Given the description of an element on the screen output the (x, y) to click on. 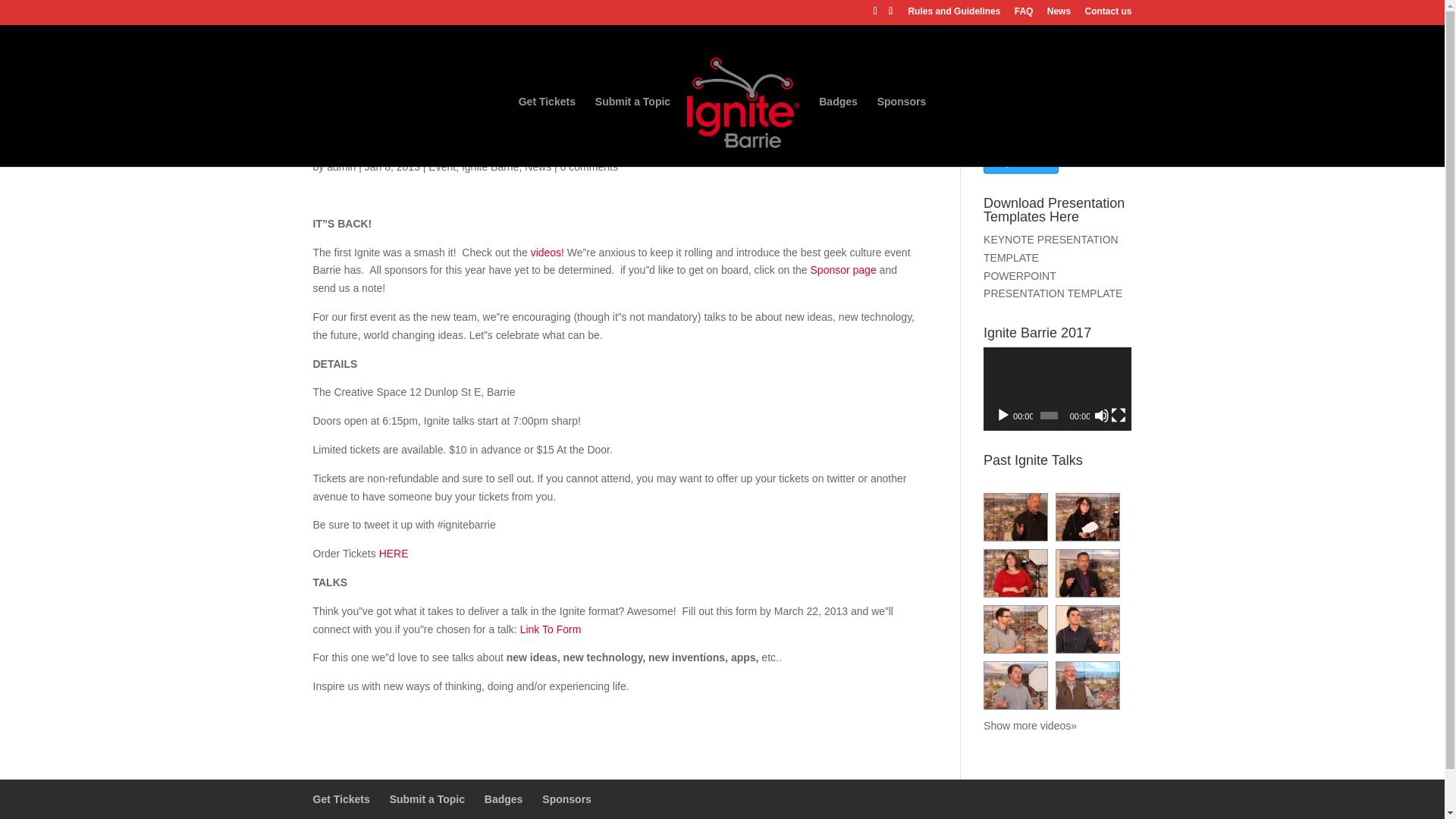
News (1058, 14)
Travis - Ignite-Speaker6 (1087, 629)
Posts by admin (340, 166)
videos! (547, 252)
Contact us (1107, 14)
Sponsor page  (844, 269)
HERE (393, 553)
Play (1002, 415)
Submit a Topic (632, 131)
FAQ (1023, 14)
